Given the description of an element on the screen output the (x, y) to click on. 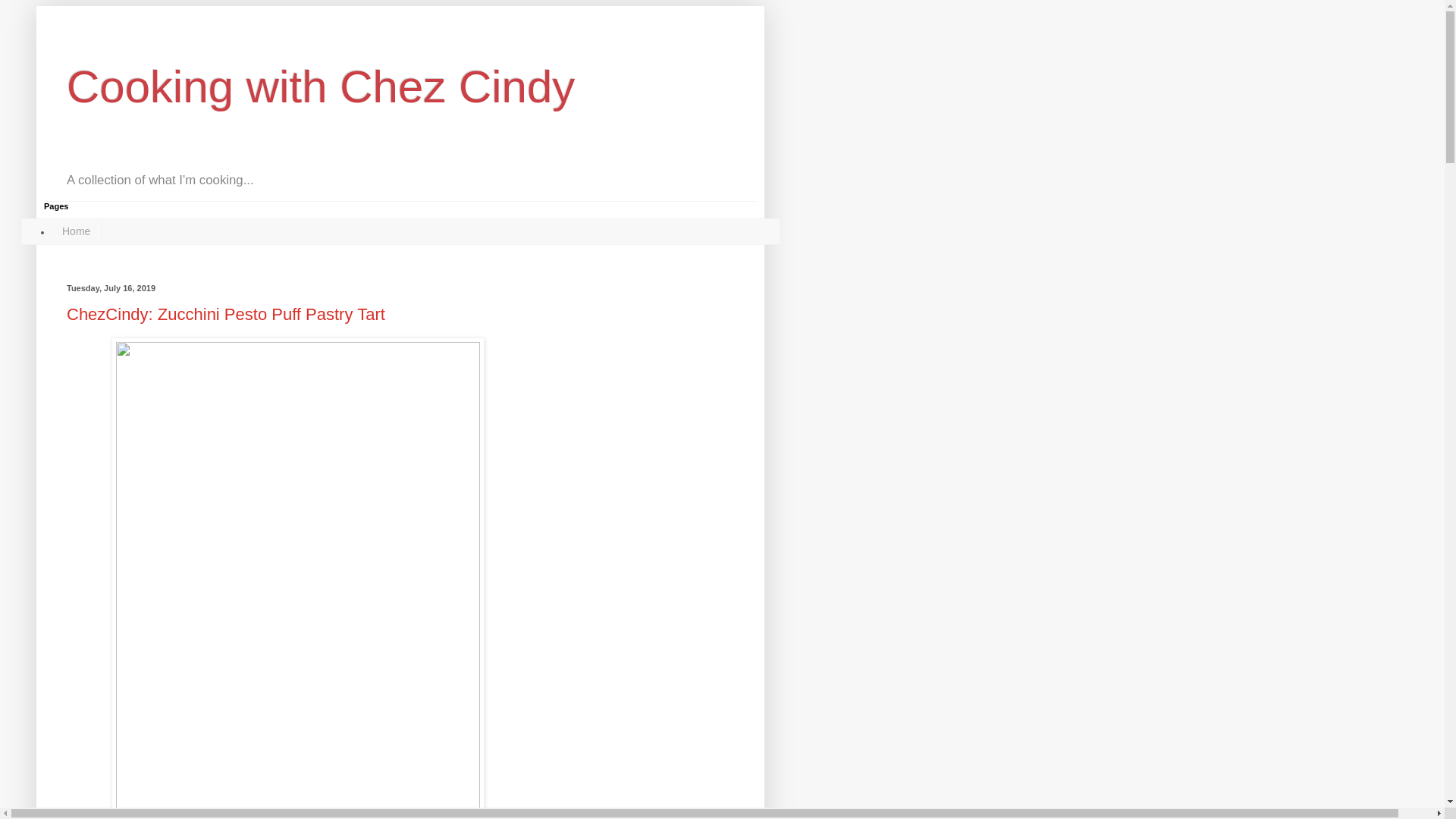
Home (75, 231)
Cooking with Chez Cindy (320, 86)
ChezCindy: Zucchini Pesto Puff Pastry Tart (225, 313)
